Given the description of an element on the screen output the (x, y) to click on. 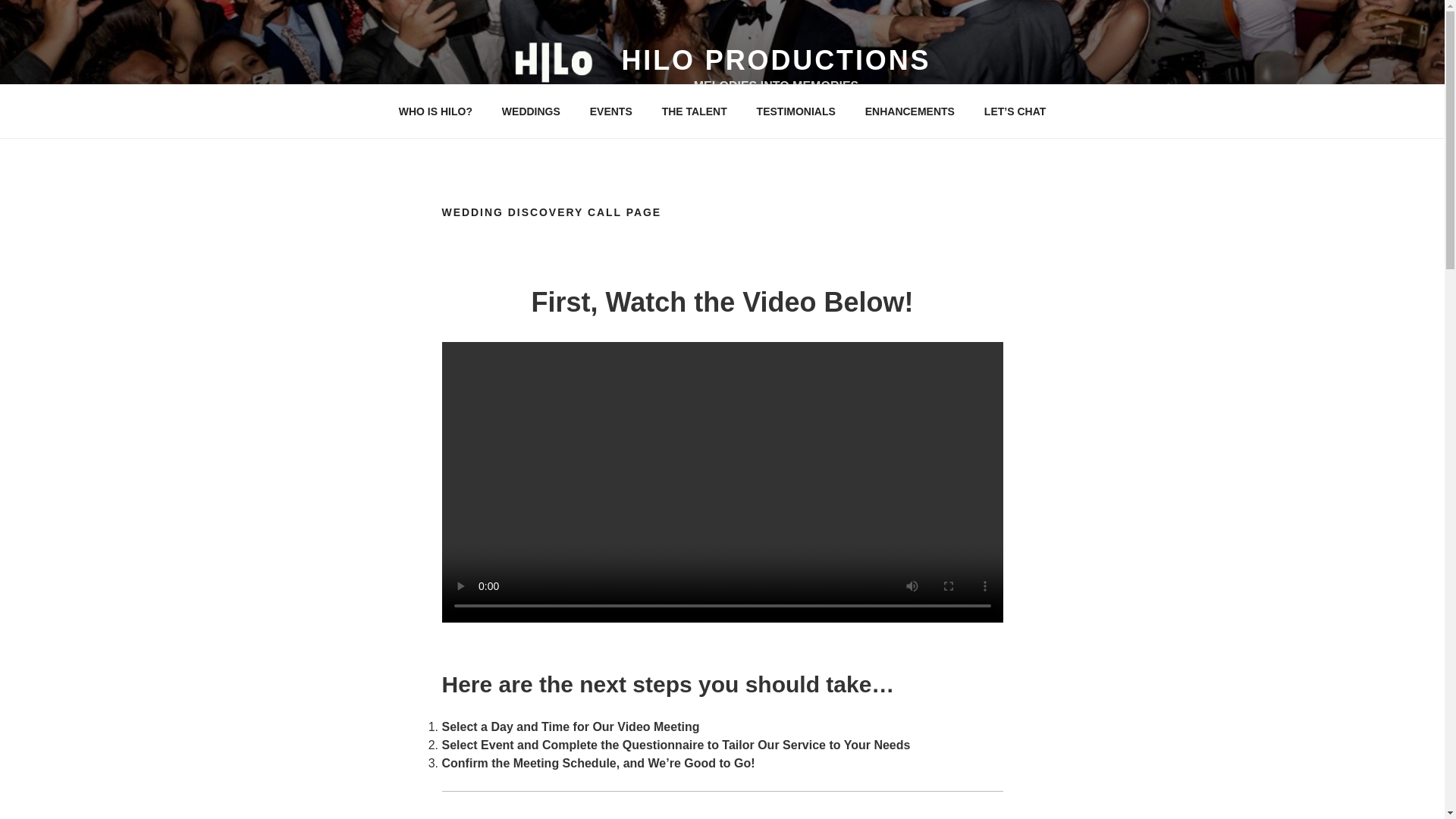
THE TALENT (693, 110)
TESTIMONIALS (795, 110)
HILO PRODUCTIONS (775, 60)
EVENTS (610, 110)
ENHANCEMENTS (909, 110)
WEDDINGS (530, 110)
WHO IS HILO? (434, 110)
